Given the description of an element on the screen output the (x, y) to click on. 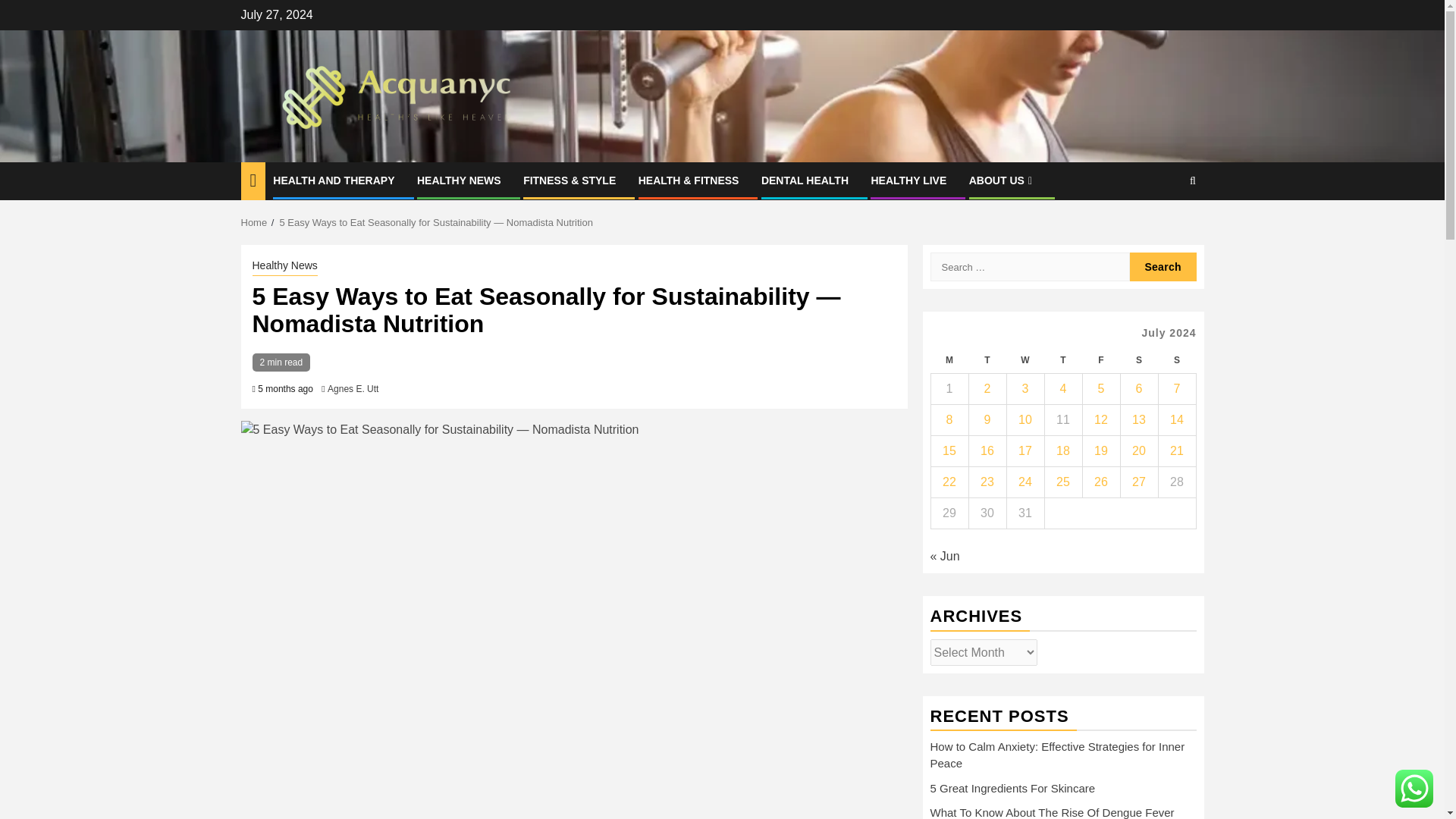
HEALTH AND THERAPY (333, 180)
Agnes E. Utt (352, 388)
HEALTHY LIVE (908, 180)
Sunday (1176, 360)
Search (1163, 226)
Healthy News (284, 266)
Thursday (1062, 360)
Monday (949, 360)
Friday (1100, 360)
Search (1162, 266)
Search (1162, 266)
Search (1192, 180)
Home (254, 222)
HEALTHY NEWS (458, 180)
Tuesday (987, 360)
